Given the description of an element on the screen output the (x, y) to click on. 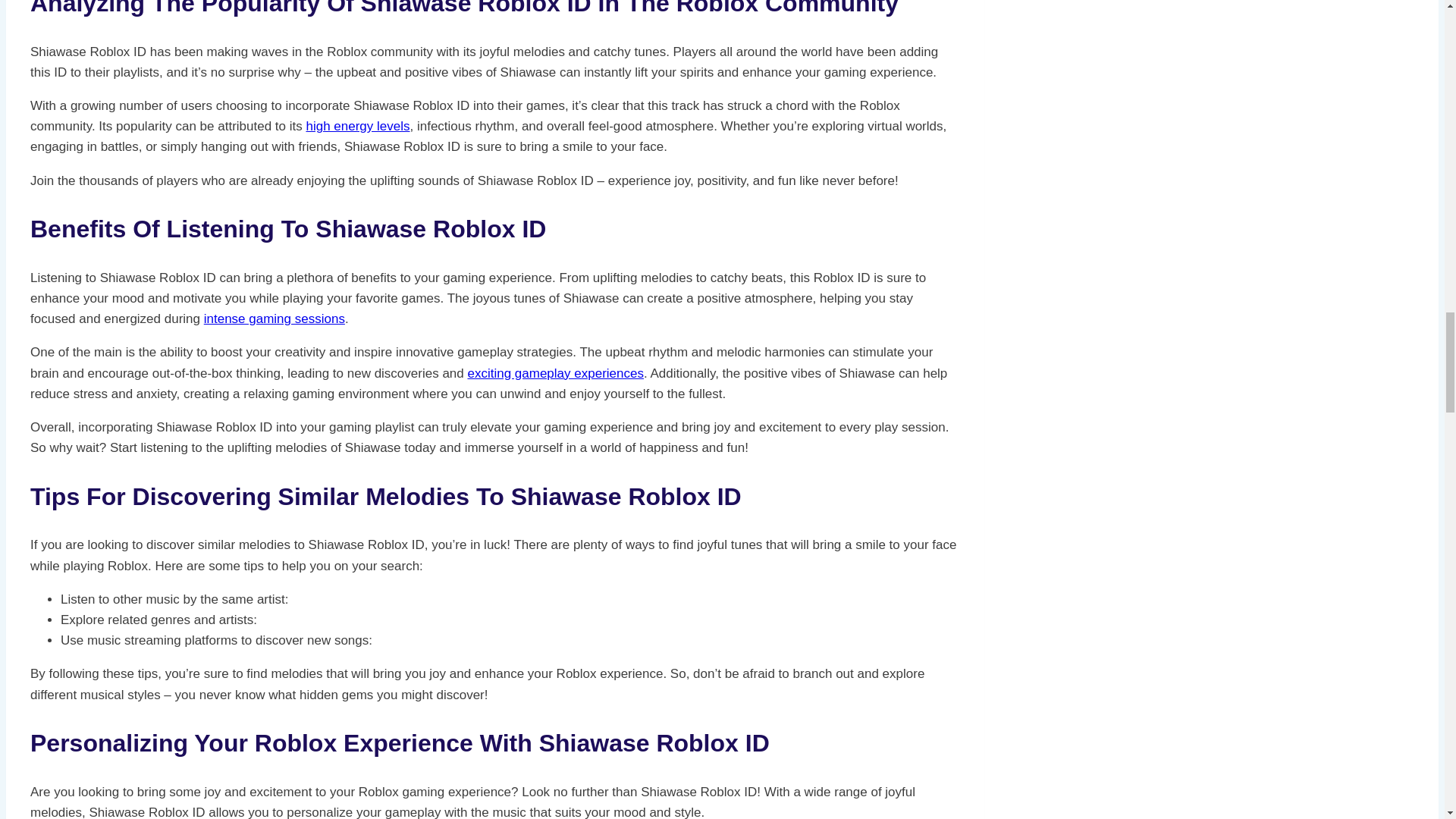
exciting gameplay experiences (555, 373)
high energy levels (357, 125)
Dog Name Wordle Adventures: Exploring Wordle with Dog Names (357, 125)
Cual Es Mejor Roblox o Free Fire - Explore the Gaming Debate (555, 373)
intense gaming sessions (274, 318)
